Given the description of an element on the screen output the (x, y) to click on. 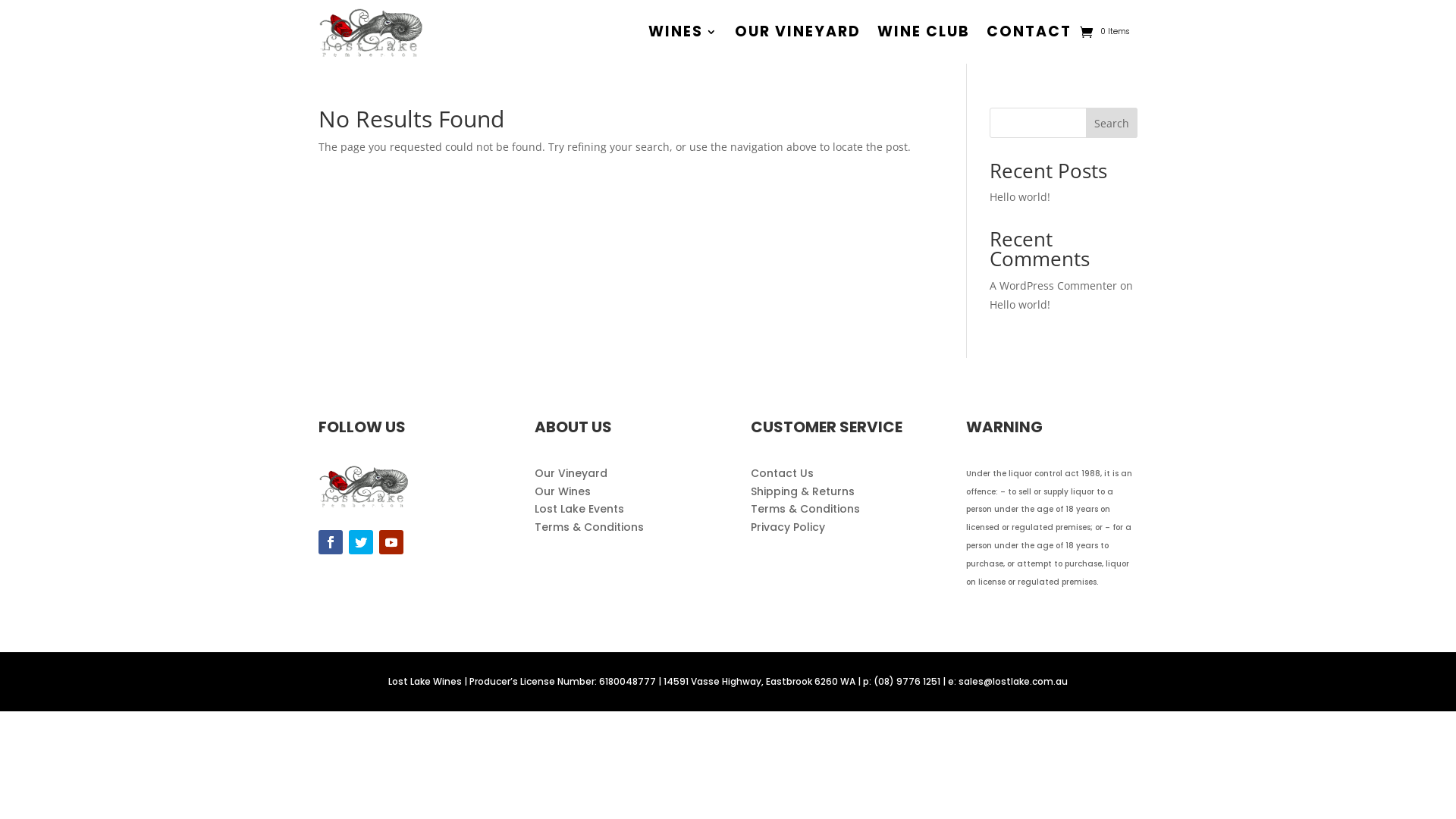
Follow on Youtube Element type: hover (391, 542)
Hello world! Element type: text (1019, 304)
Hello world! Element type: text (1019, 196)
A WordPress Commenter Element type: text (1053, 285)
WINE CLUB Element type: text (923, 31)
Search Element type: text (1111, 122)
CONTACT Element type: text (1028, 31)
0 Items Element type: text (1104, 31)
Follow on Facebook Element type: hover (330, 542)
WINES Element type: text (683, 31)
OUR VINEYARD Element type: text (797, 31)
Follow on Twitter Element type: hover (360, 542)
logo__1_clean Element type: hover (363, 485)
